Given the description of an element on the screen output the (x, y) to click on. 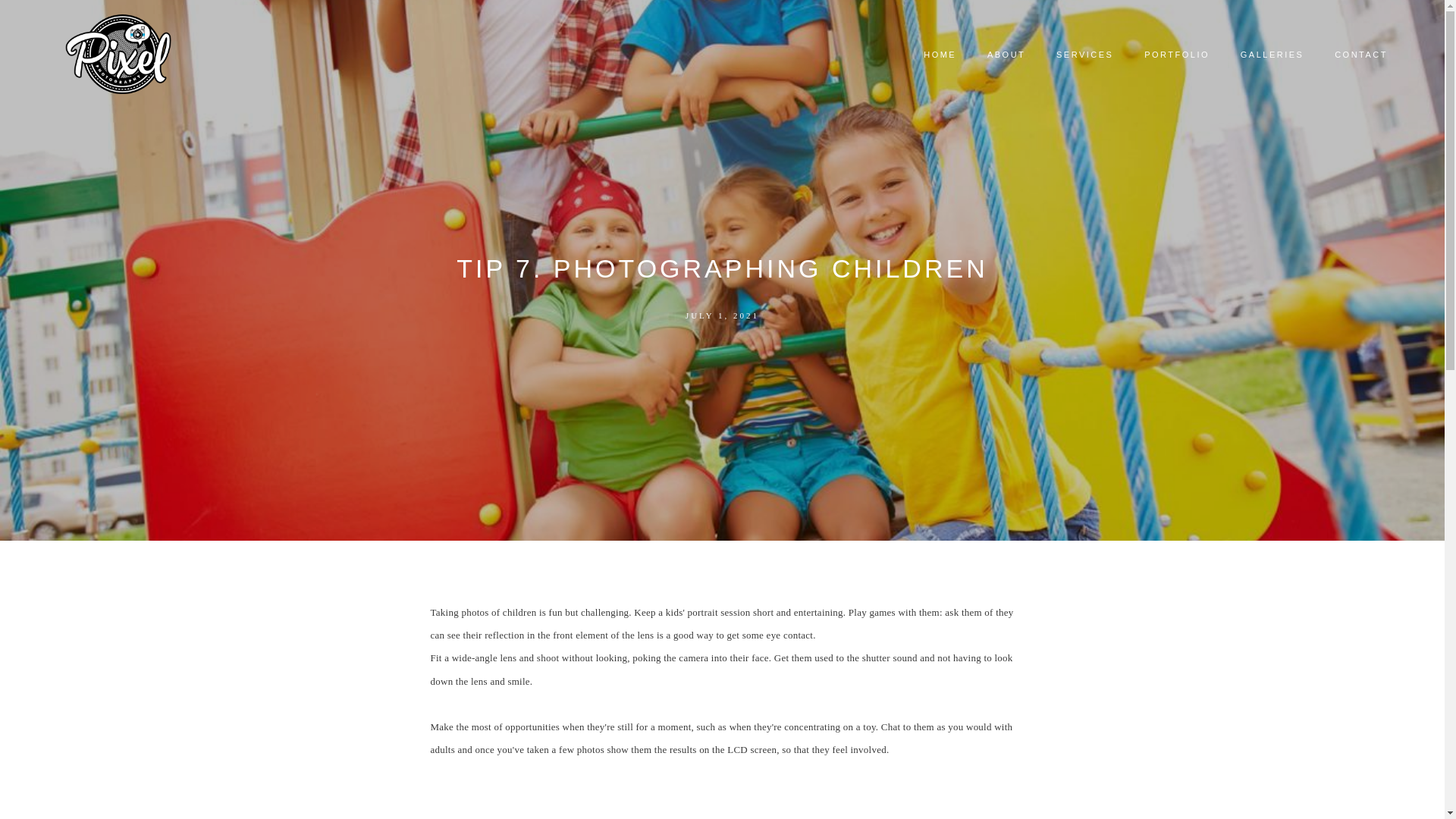
PORTFOLIO (1176, 55)
HOME (940, 55)
GALLERIES (1271, 55)
CONTACT (1361, 55)
ABOUT (1005, 55)
SERVICES (1085, 55)
